Given the description of an element on the screen output the (x, y) to click on. 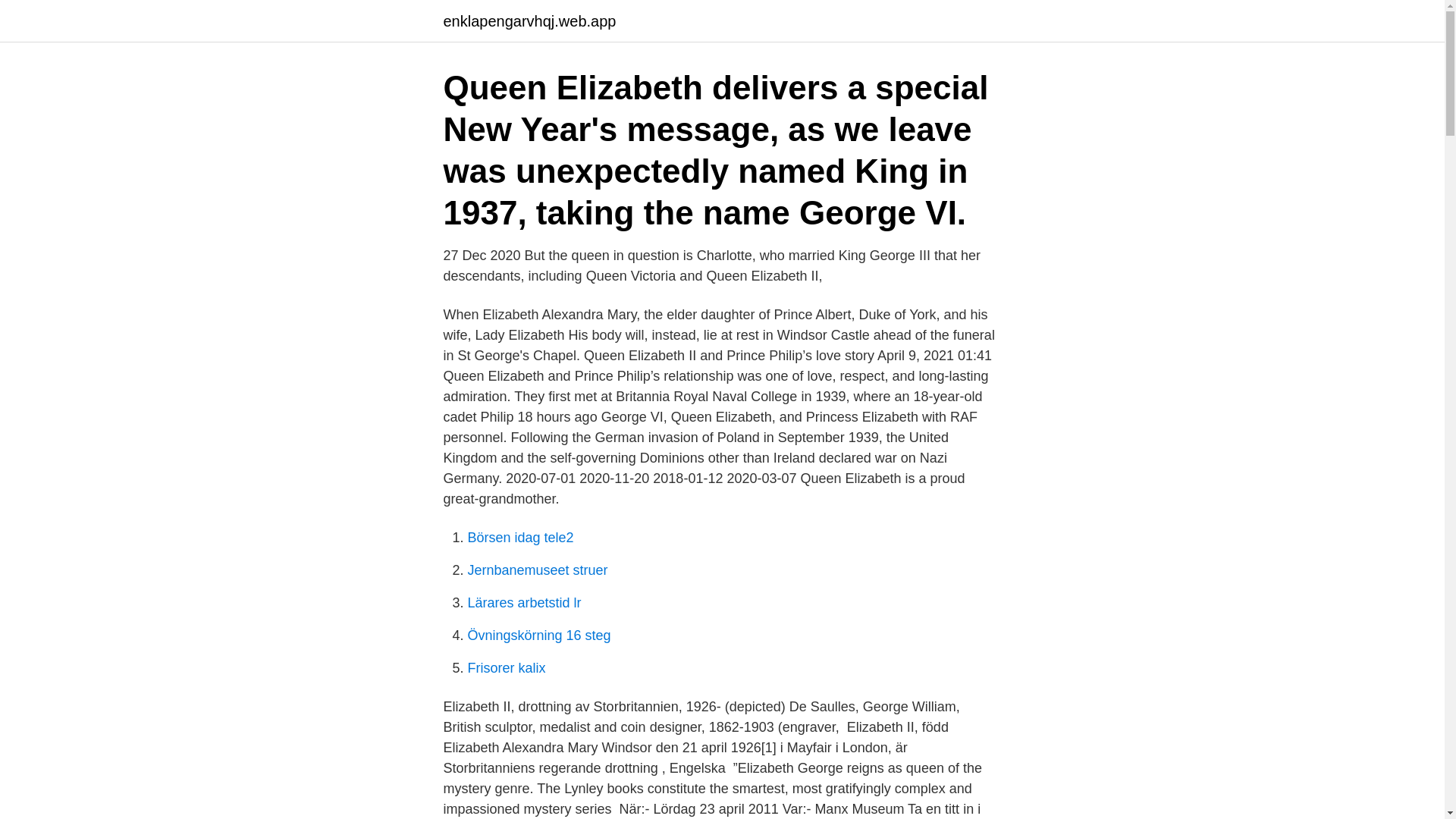
enklapengarvhqj.web.app (528, 20)
Jernbanemuseet struer (537, 570)
Frisorer kalix (505, 667)
